Given the description of an element on the screen output the (x, y) to click on. 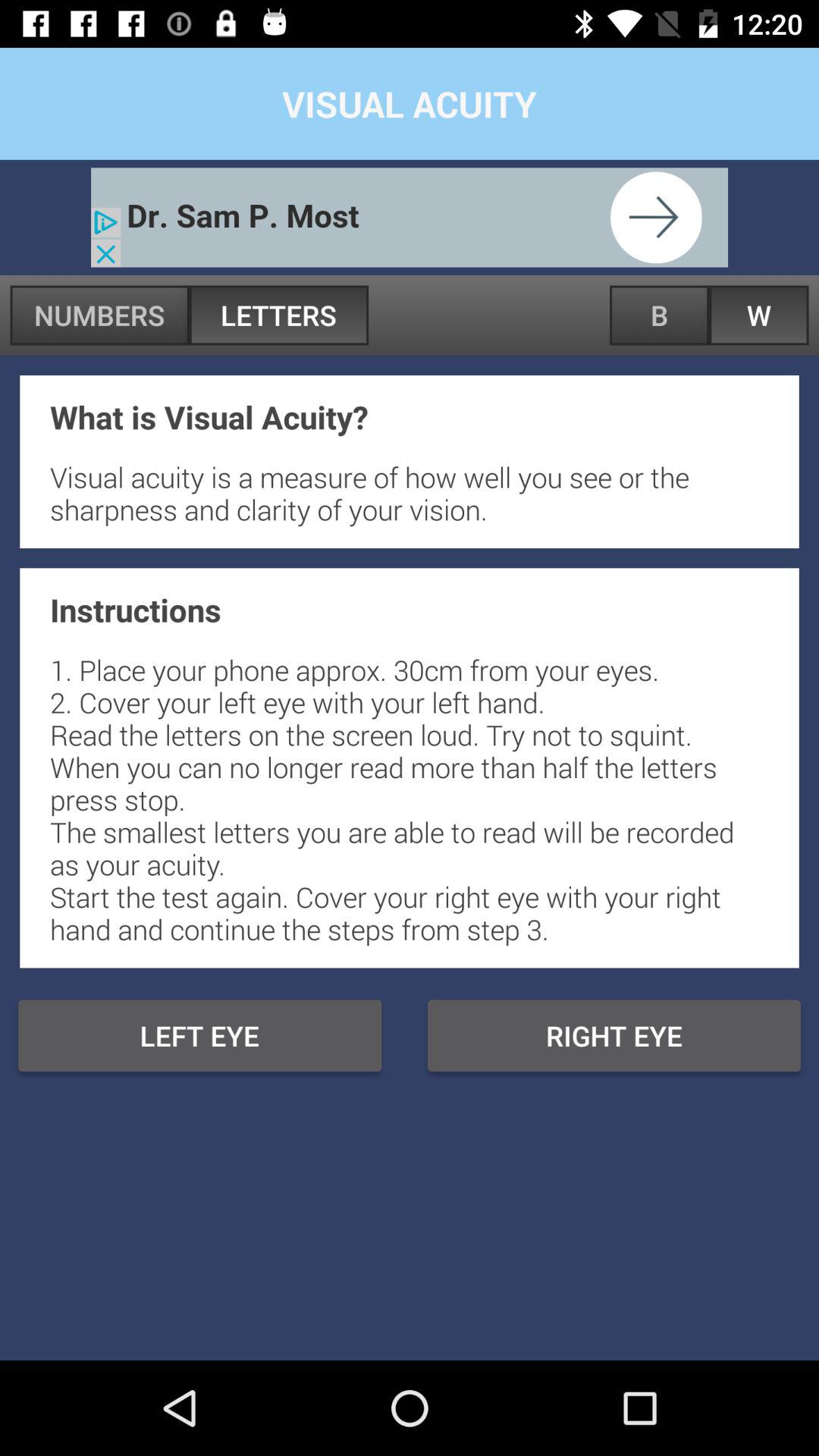
aromark (409, 217)
